Given the description of an element on the screen output the (x, y) to click on. 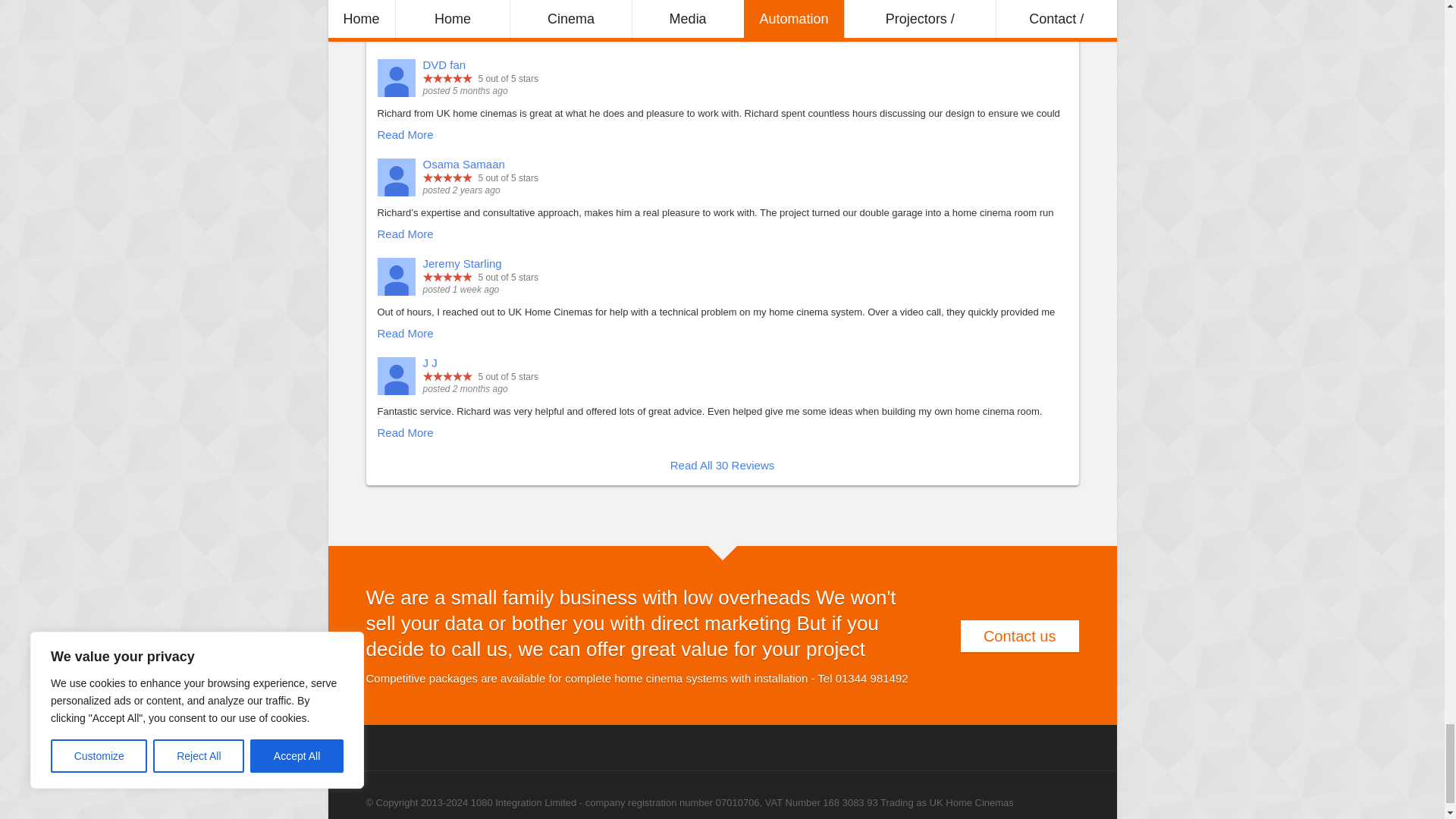
DVD fan (395, 77)
View this profile. (464, 164)
View this profile. (462, 263)
J J (395, 375)
Osama Samaan (395, 177)
View this profile. (444, 64)
Jeremy Starling (395, 276)
View this profile. (430, 362)
